Given the description of an element on the screen output the (x, y) to click on. 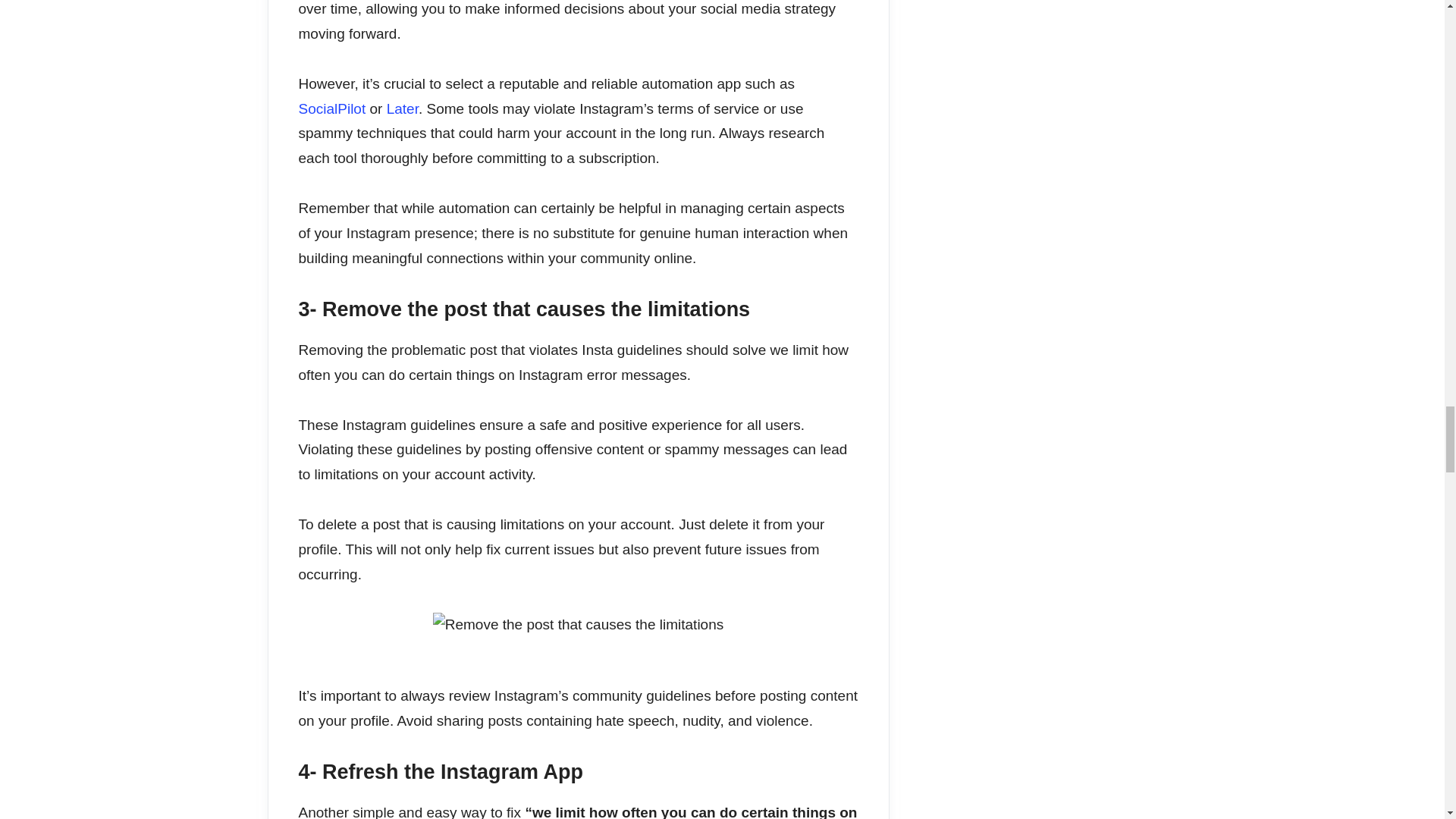
Later (403, 108)
SocialPilot (332, 108)
Remove the post that causes the limitations (577, 625)
